Given the description of an element on the screen output the (x, y) to click on. 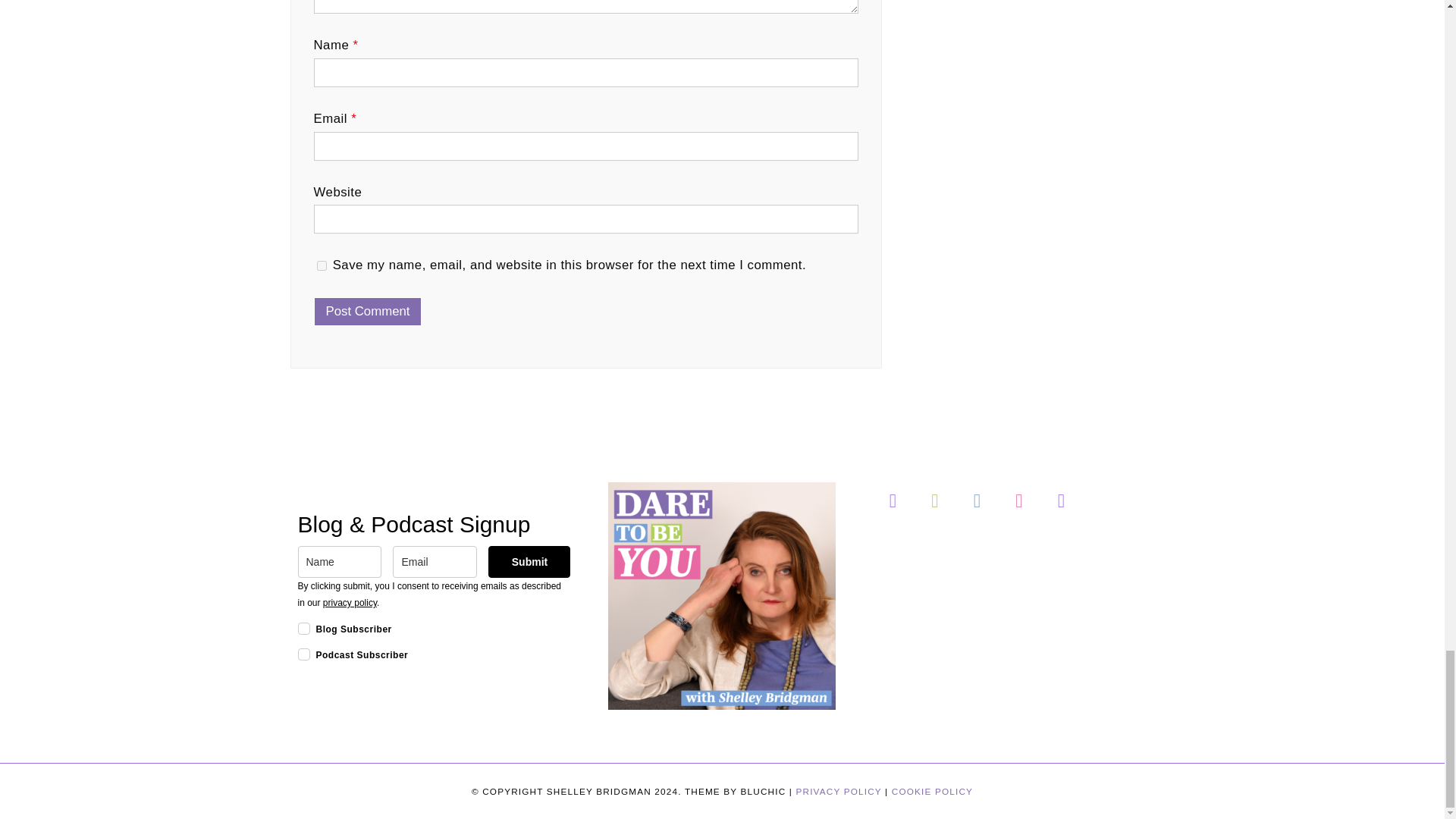
yes (321, 266)
Post Comment (368, 311)
privacy policy (350, 602)
Post Comment (368, 311)
Submit (528, 562)
